Given the description of an element on the screen output the (x, y) to click on. 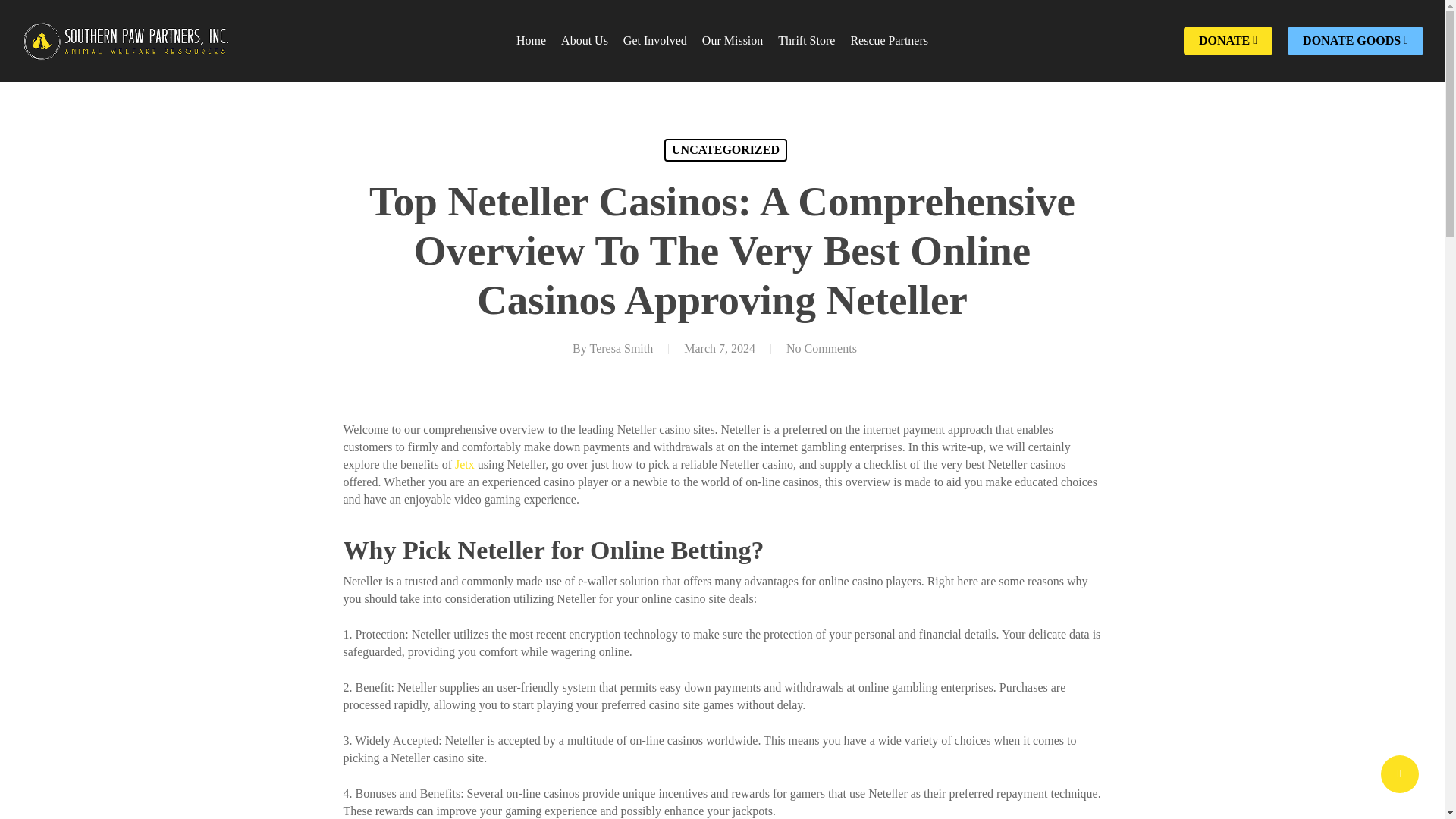
About Us (584, 40)
Home (531, 40)
Thrift Store (805, 40)
DONATE (1227, 40)
Jetx (464, 463)
No Comments (821, 348)
Our Mission (731, 40)
Get Involved (655, 40)
Teresa Smith (620, 348)
DONATE GOODS (1355, 40)
Rescue Partners (889, 40)
Posts by Teresa Smith (620, 348)
UNCATEGORIZED (725, 149)
